Given the description of an element on the screen output the (x, y) to click on. 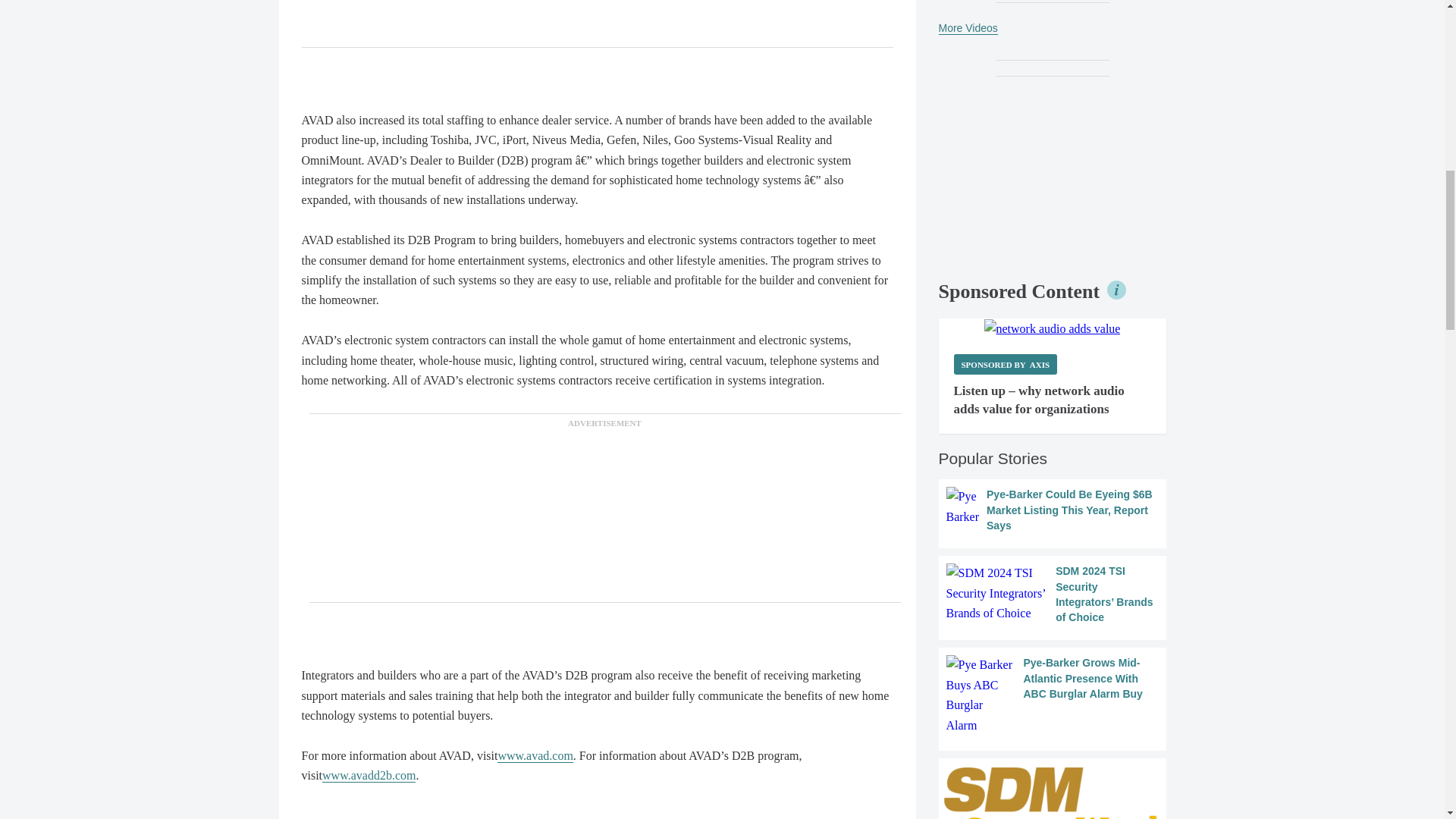
Axis Communications (1052, 329)
Sponsored by Axis  (1005, 363)
